Given the description of an element on the screen output the (x, y) to click on. 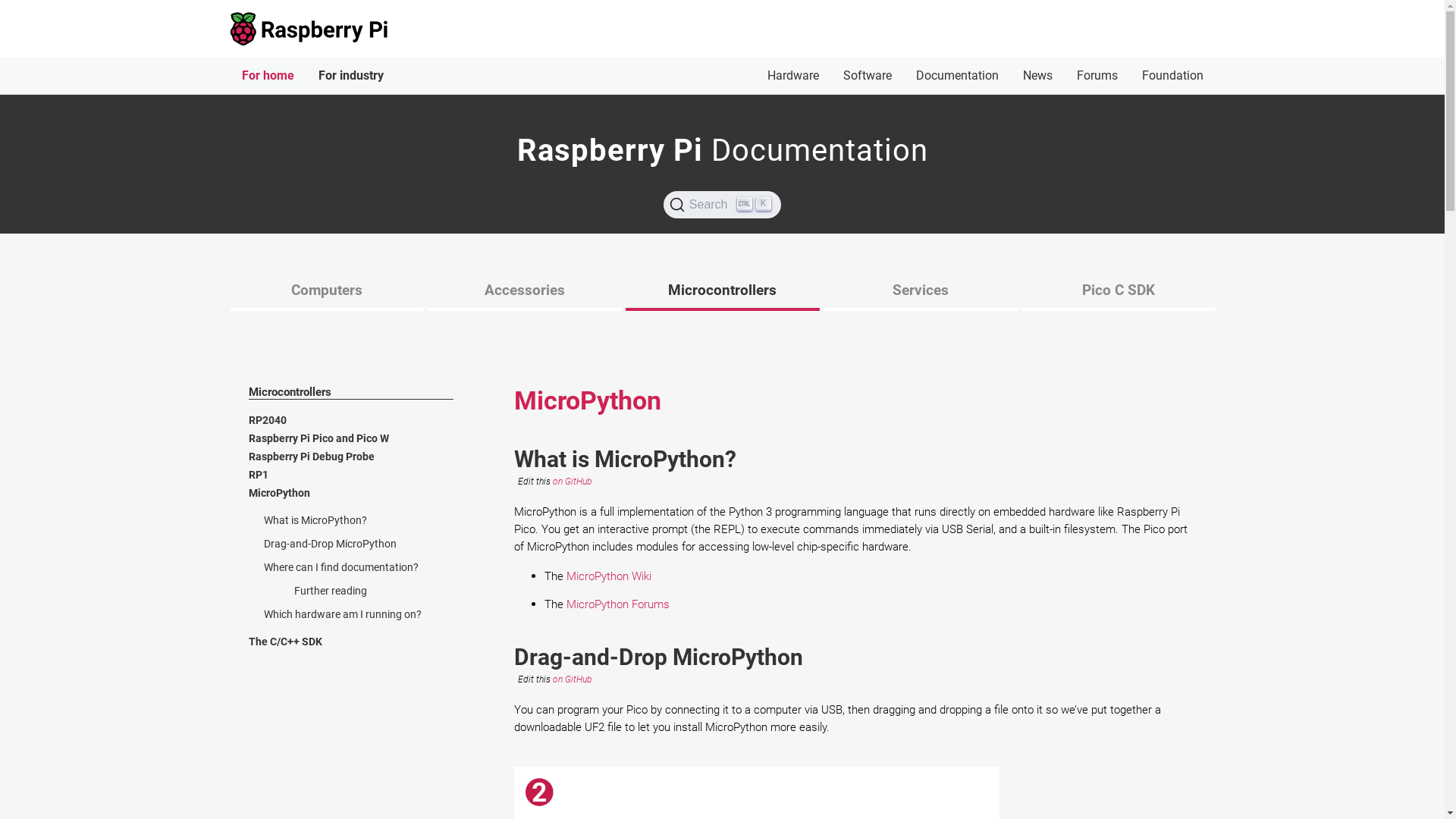
News Element type: text (1036, 75)
For industry Element type: text (350, 75)
Where can I find documentation? Element type: text (340, 567)
Pico C SDK Element type: text (1117, 289)
on GitHub Element type: text (571, 481)
For home Element type: text (267, 75)
Computers Element type: text (326, 289)
The C/C++ SDK Element type: text (362, 641)
What is MicroPython? Element type: text (315, 520)
Further reading Element type: text (330, 590)
Accessories Element type: text (523, 289)
Raspberry Pi Documentation Element type: text (722, 150)
on GitHub Element type: text (571, 679)
MicroPython Forums Element type: text (616, 604)
Which hardware am I running on? Element type: text (342, 614)
MicroPython Element type: text (362, 492)
RP1 Element type: text (362, 474)
Services Element type: text (919, 289)
Search
K Element type: text (722, 204)
Raspberry Pi Pico and Pico W Element type: text (362, 438)
Microcontrollers Element type: text (722, 289)
Drag-and-Drop MicroPython Element type: text (329, 543)
Raspberry Pi Debug Probe Element type: text (362, 456)
Microcontrollers Element type: text (289, 391)
RP2040 Element type: text (362, 420)
Documentation Element type: text (956, 75)
Hardware Element type: text (793, 75)
Forums Element type: text (1096, 75)
Software Element type: text (867, 75)
MicroPython Wiki Element type: text (607, 576)
Foundation Element type: text (1172, 75)
